Given the description of an element on the screen output the (x, y) to click on. 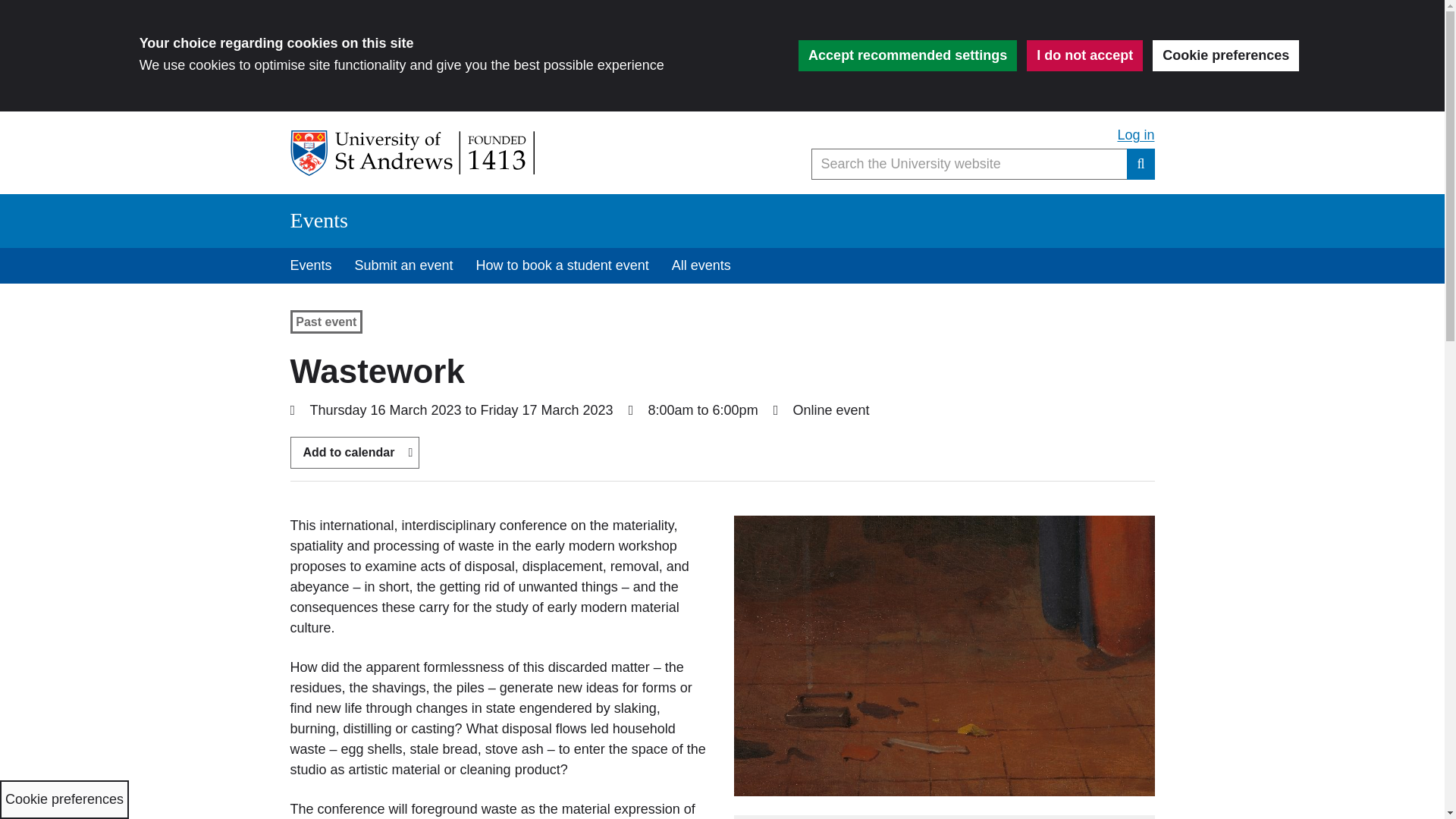
Events (318, 219)
Time (630, 409)
Cookie preferences (1225, 55)
How to book a student event (562, 265)
Events (311, 265)
I do not accept (1084, 55)
Accept recommended settings (906, 55)
Log in (1135, 135)
All events (701, 265)
Location (775, 409)
Add to calendar (354, 452)
Date (292, 409)
Submit an event (403, 265)
Submit (1140, 163)
